Given the description of an element on the screen output the (x, y) to click on. 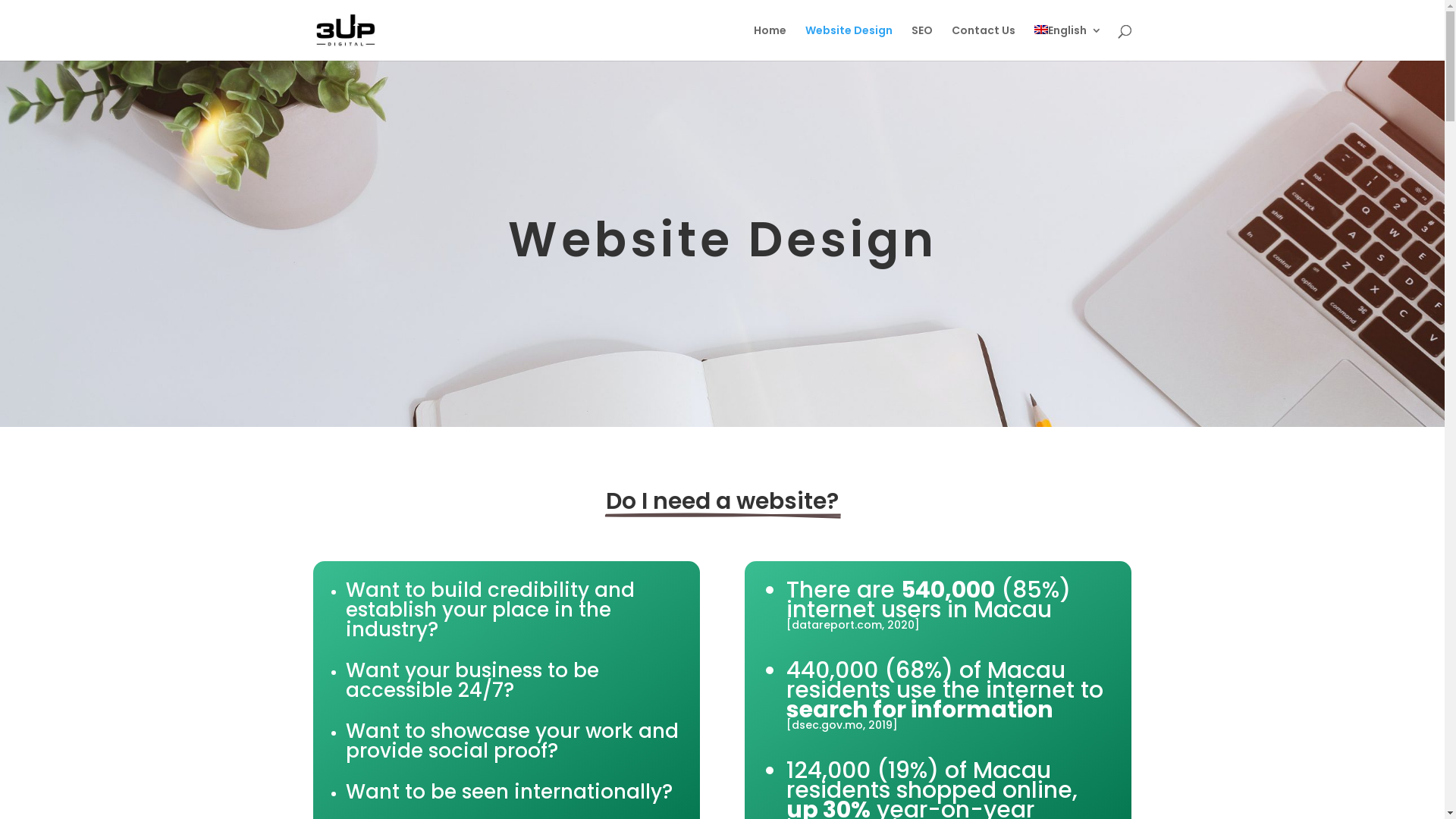
Website Design Element type: text (848, 42)
SEO Element type: text (921, 42)
[datareport.com, 2020] Element type: text (852, 624)
English Element type: text (1067, 42)
dsec.gov.mo, 2019 Element type: text (841, 724)
Home Element type: text (769, 42)
Contact Us Element type: text (982, 42)
